Given the description of an element on the screen output the (x, y) to click on. 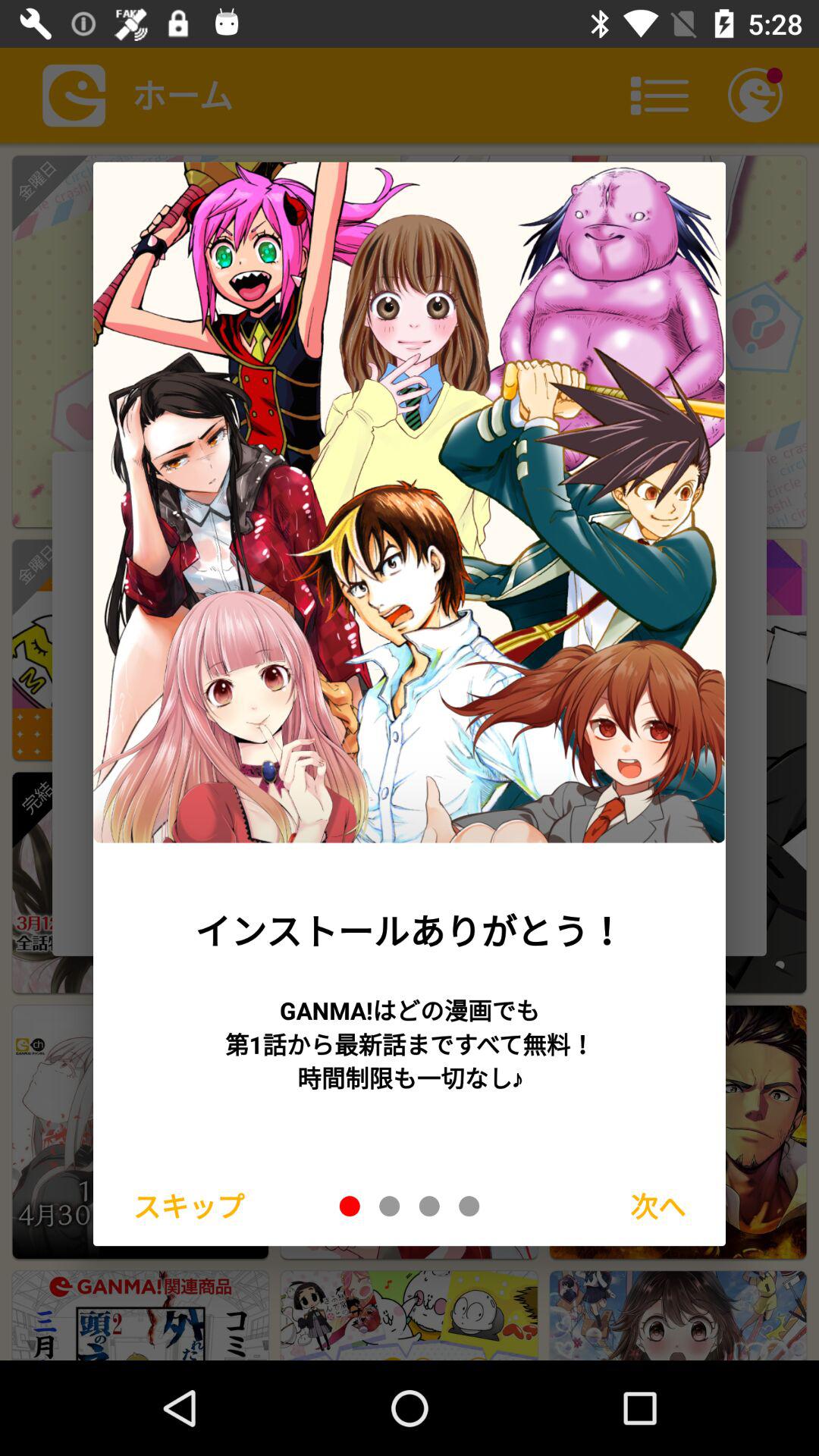
go to first image (349, 1206)
